Given the description of an element on the screen output the (x, y) to click on. 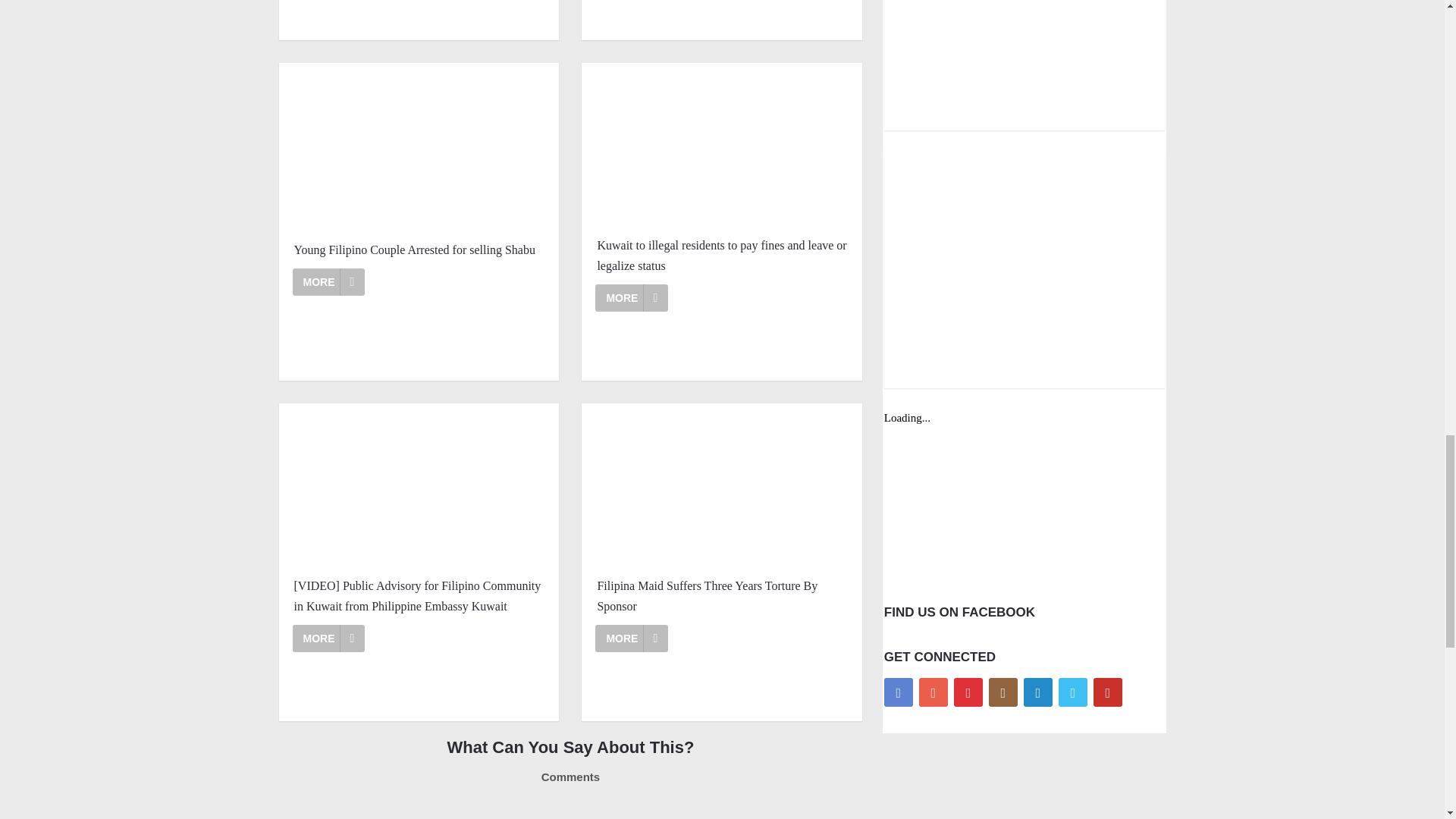
Young Filipino Couple Arrested for selling Shabu (328, 281)
Young Filipino Couple Arrested for selling Shabu (419, 146)
Young Filipino Couple Arrested for selling Shabu (419, 249)
